Given the description of an element on the screen output the (x, y) to click on. 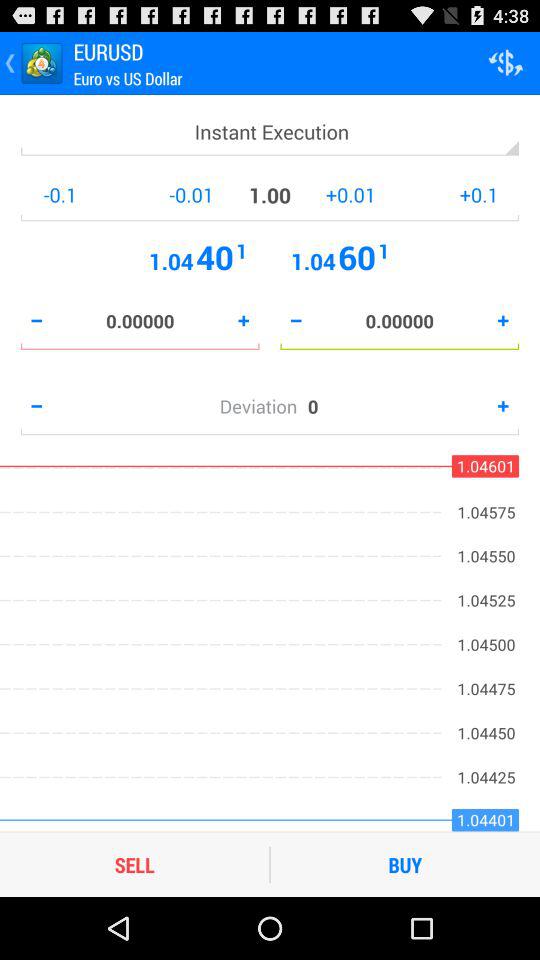
turn on the item to the left of the 0 icon (263, 405)
